Given the description of an element on the screen output the (x, y) to click on. 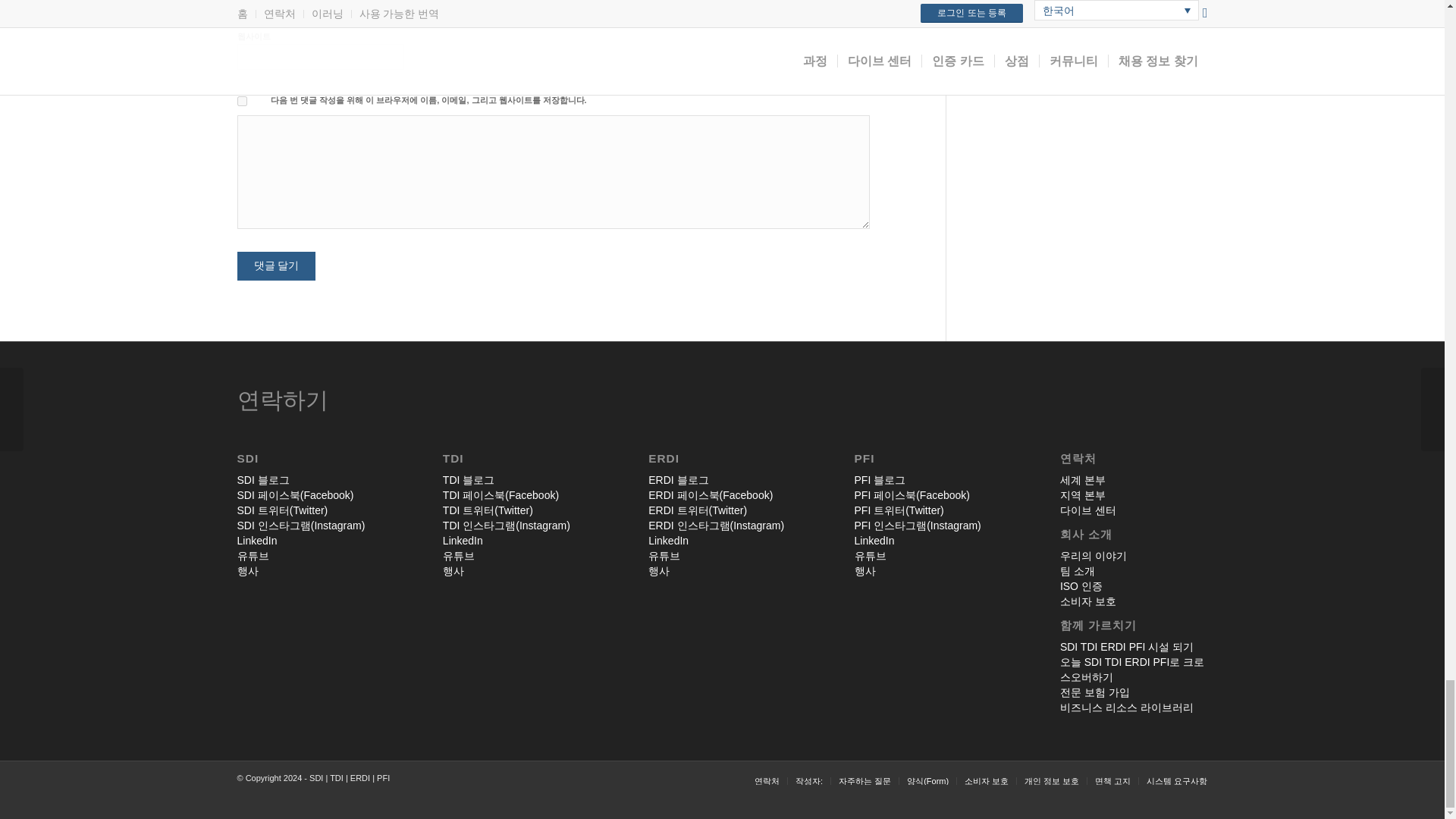
yes (240, 101)
